Given the description of an element on the screen output the (x, y) to click on. 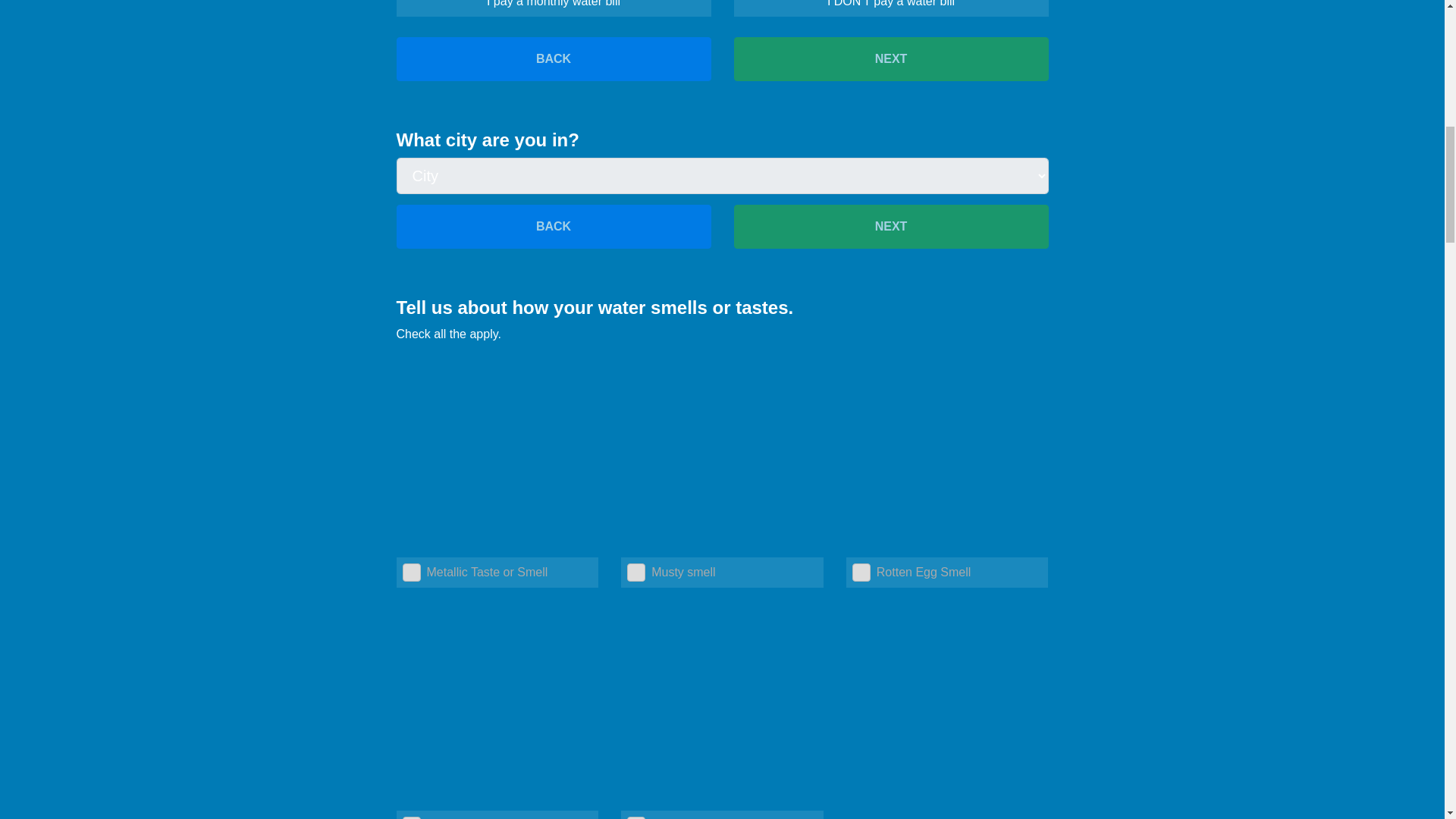
BACK (553, 226)
NEXT (890, 226)
BACK (553, 58)
NEXT (890, 58)
